Given the description of an element on the screen output the (x, y) to click on. 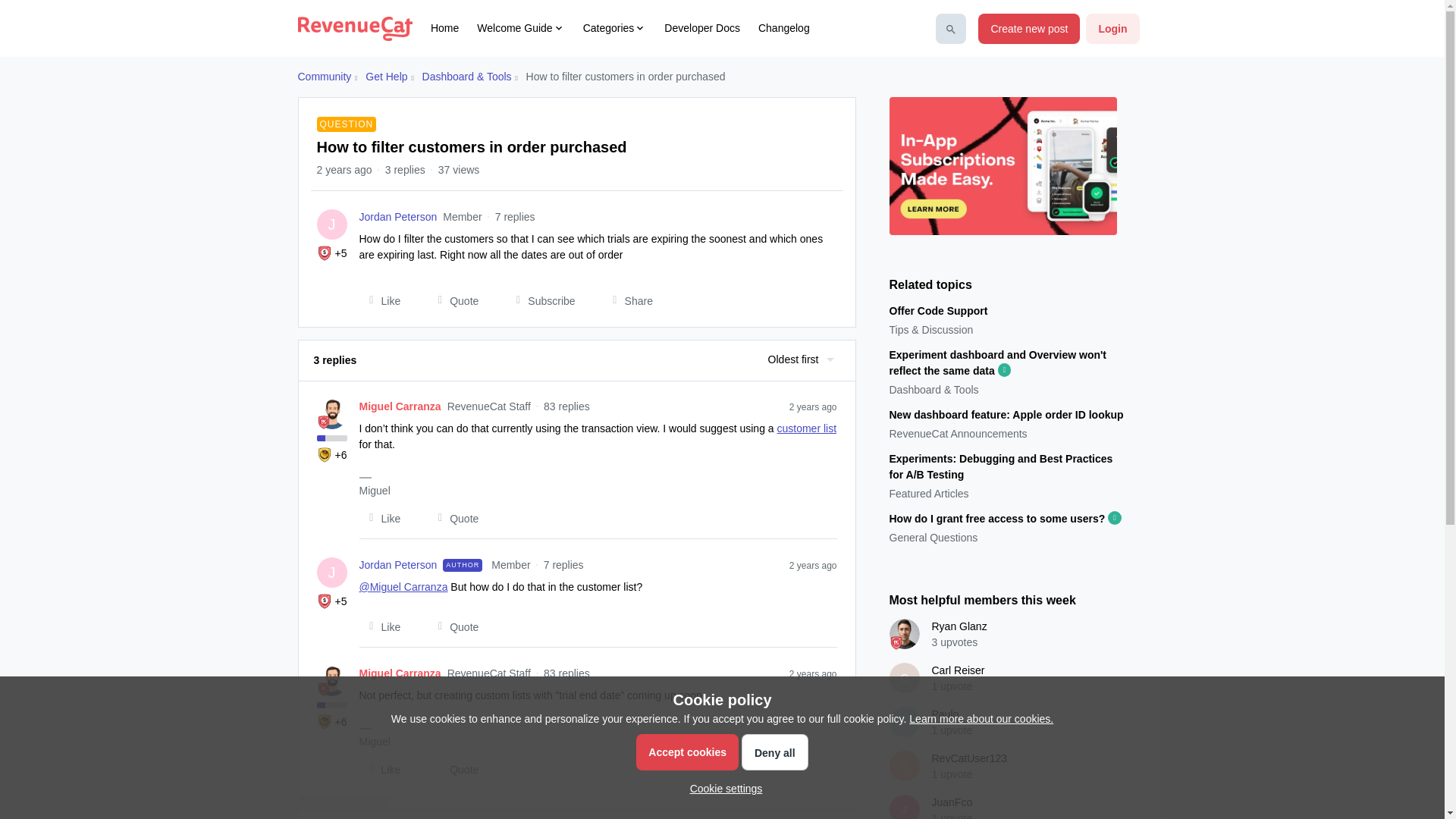
Top Banana (324, 454)
Login (1112, 28)
Get Help (386, 76)
J (332, 224)
Home (444, 28)
Changelog (783, 28)
Create new post (1029, 28)
Like (380, 300)
Subscribe (539, 300)
Jordan Peterson (398, 217)
Jordan Peterson (398, 217)
Welcome Guide (520, 28)
Categories (614, 28)
Developer Docs (701, 28)
Create new post (1029, 28)
